Given the description of an element on the screen output the (x, y) to click on. 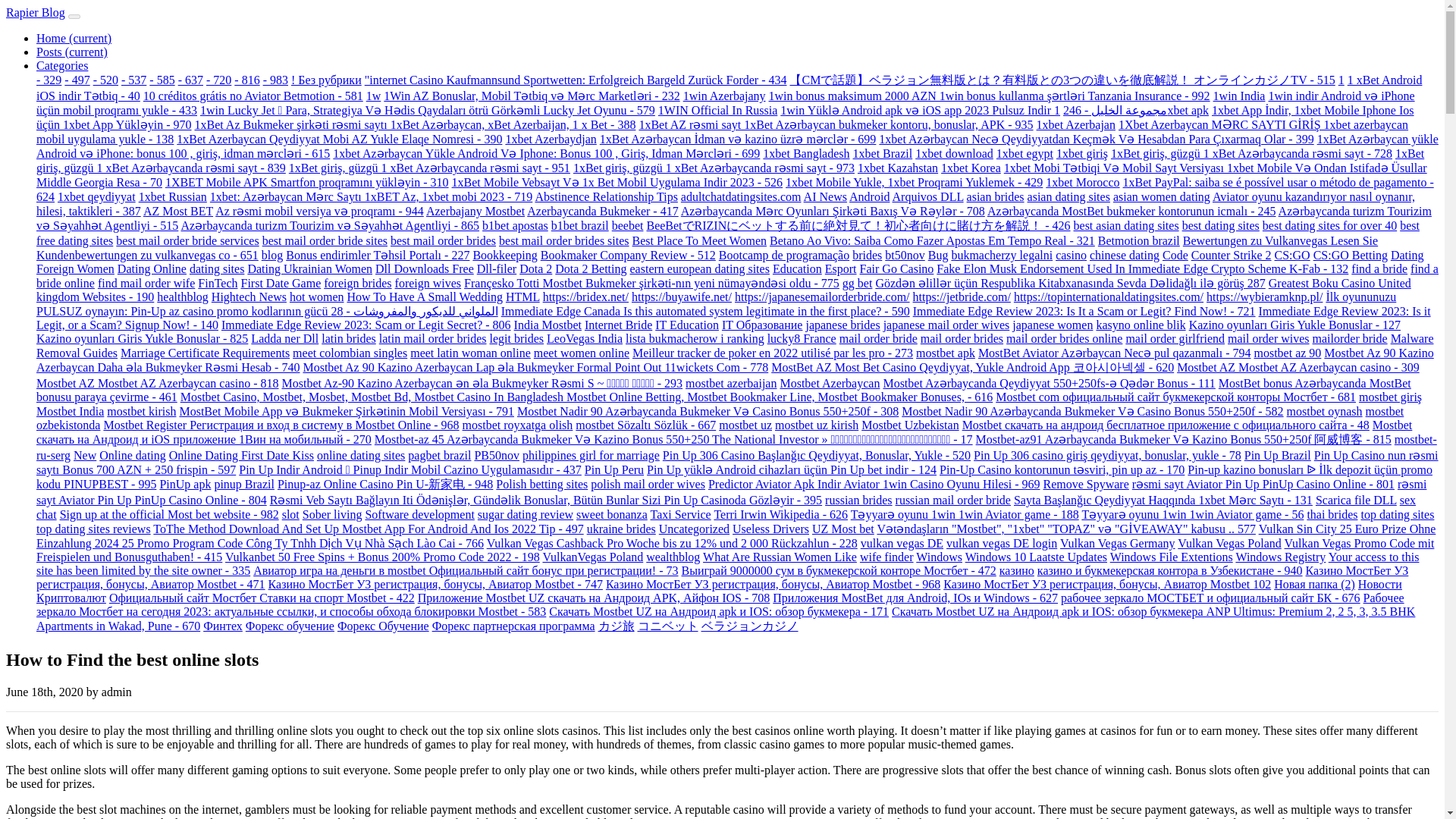
- 720 (218, 79)
- 585 (161, 79)
- 637 (190, 79)
- 329 (48, 79)
Rapier Blog (35, 11)
1 (1340, 79)
1xBet Azerbaycan Qeydiyyat Mobi AZ Yukle Elaqe Nomresi - 390 (339, 138)
1xbet Azerbaydjan (550, 138)
- 537 (133, 79)
1xbet Azerbajan (1075, 124)
- 983 (275, 79)
1win India (1238, 95)
1WIN Official In Russia (717, 110)
1win Azerbajany (723, 95)
1xbet apk (1131, 110)
